Given the description of an element on the screen output the (x, y) to click on. 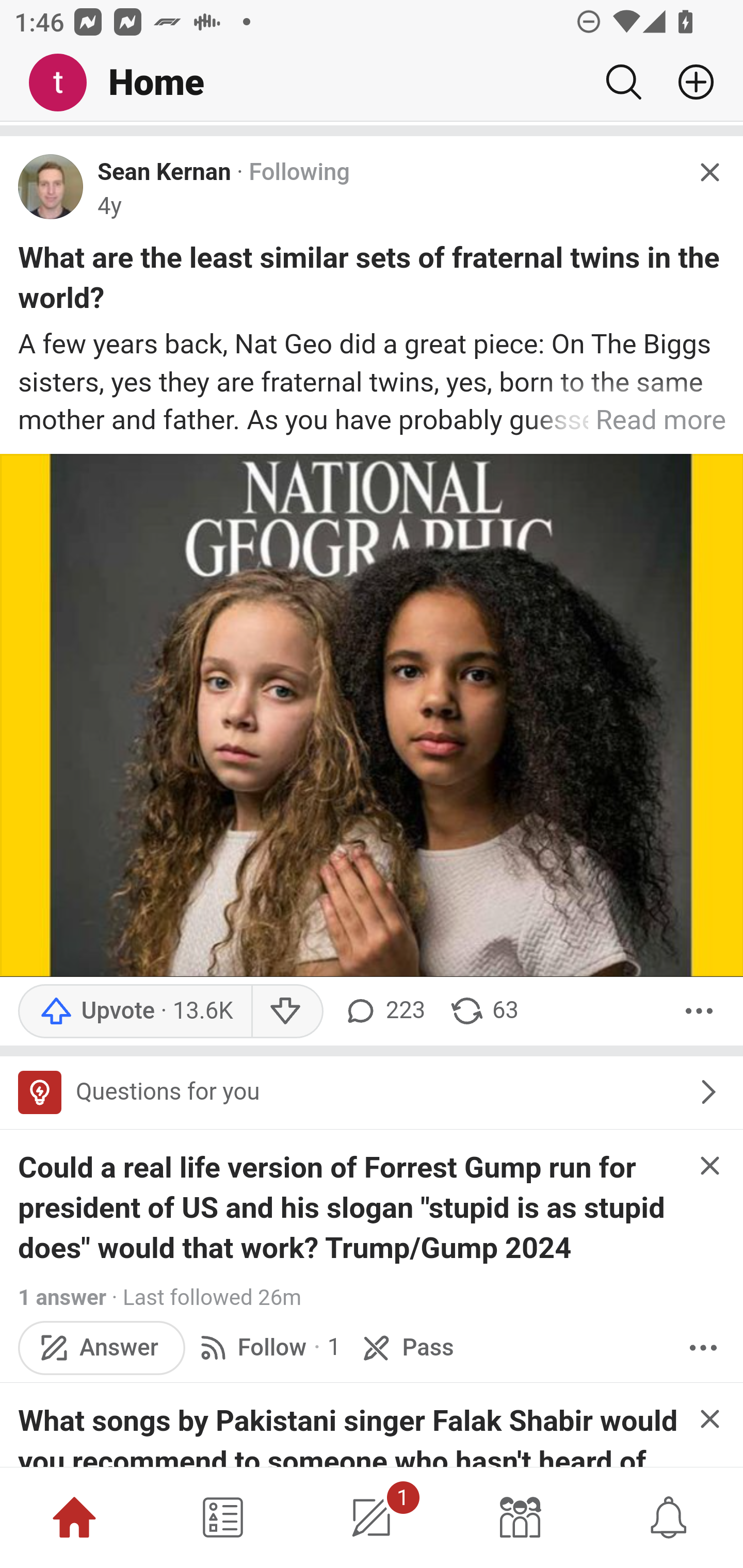
Me Home Search Add (371, 82)
Me (64, 83)
Search (623, 82)
Add (688, 82)
Hide (709, 172)
Profile photo for Sean Kernan (50, 187)
Sean Kernan (164, 173)
Following (299, 173)
4y 4 y (109, 206)
Upvote (134, 1011)
Downvote (287, 1011)
223 comments (383, 1011)
63 shares (483, 1011)
More (699, 1011)
Questions for you (371, 1092)
Hide (709, 1165)
1 answer 1  answer (62, 1297)
Answer (101, 1348)
Follow · 1 (267, 1348)
Pass (405, 1348)
More (703, 1348)
Hide (709, 1418)
1 (371, 1517)
